Given the description of an element on the screen output the (x, y) to click on. 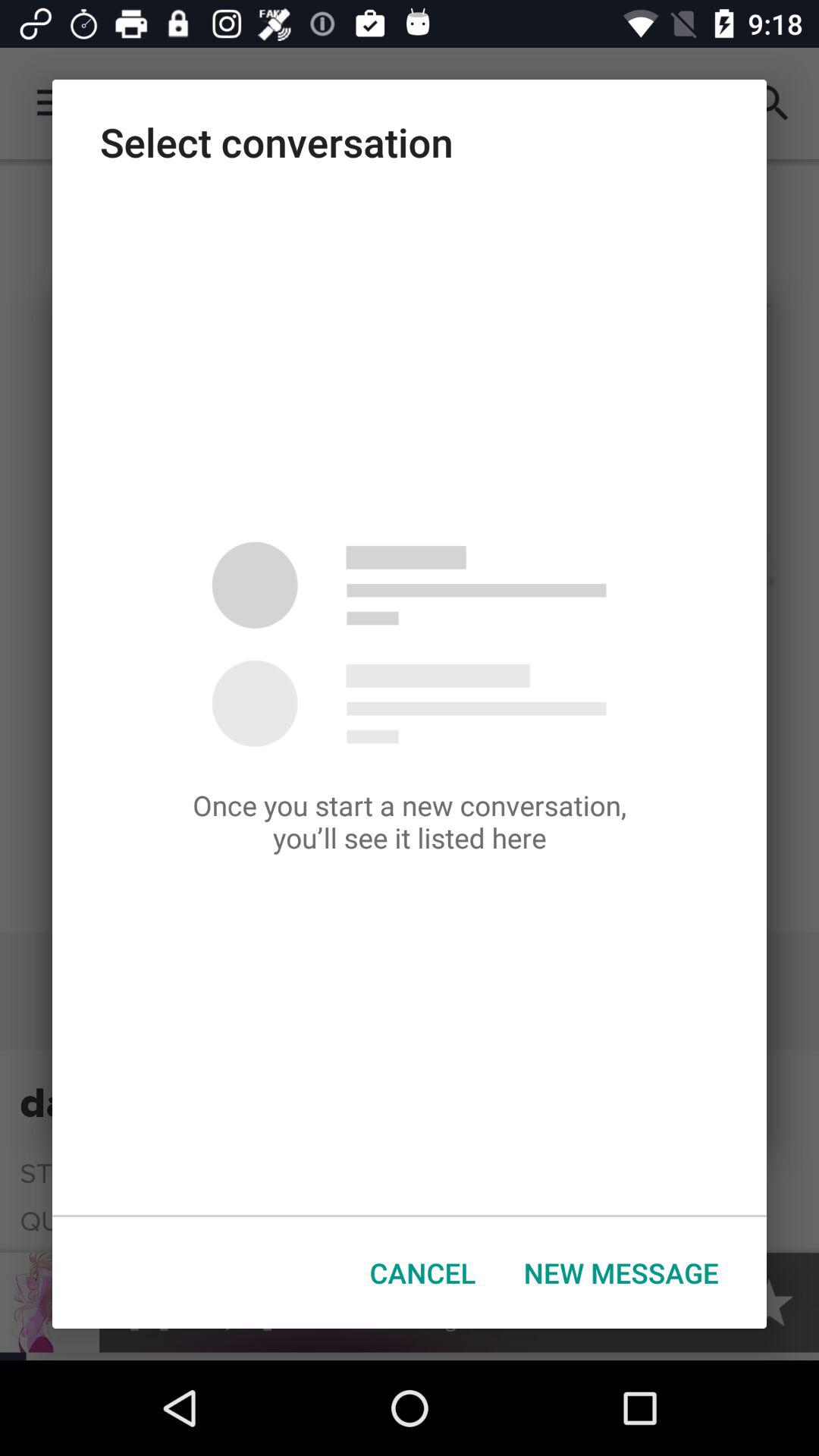
turn off button to the left of new message icon (422, 1272)
